Given the description of an element on the screen output the (x, y) to click on. 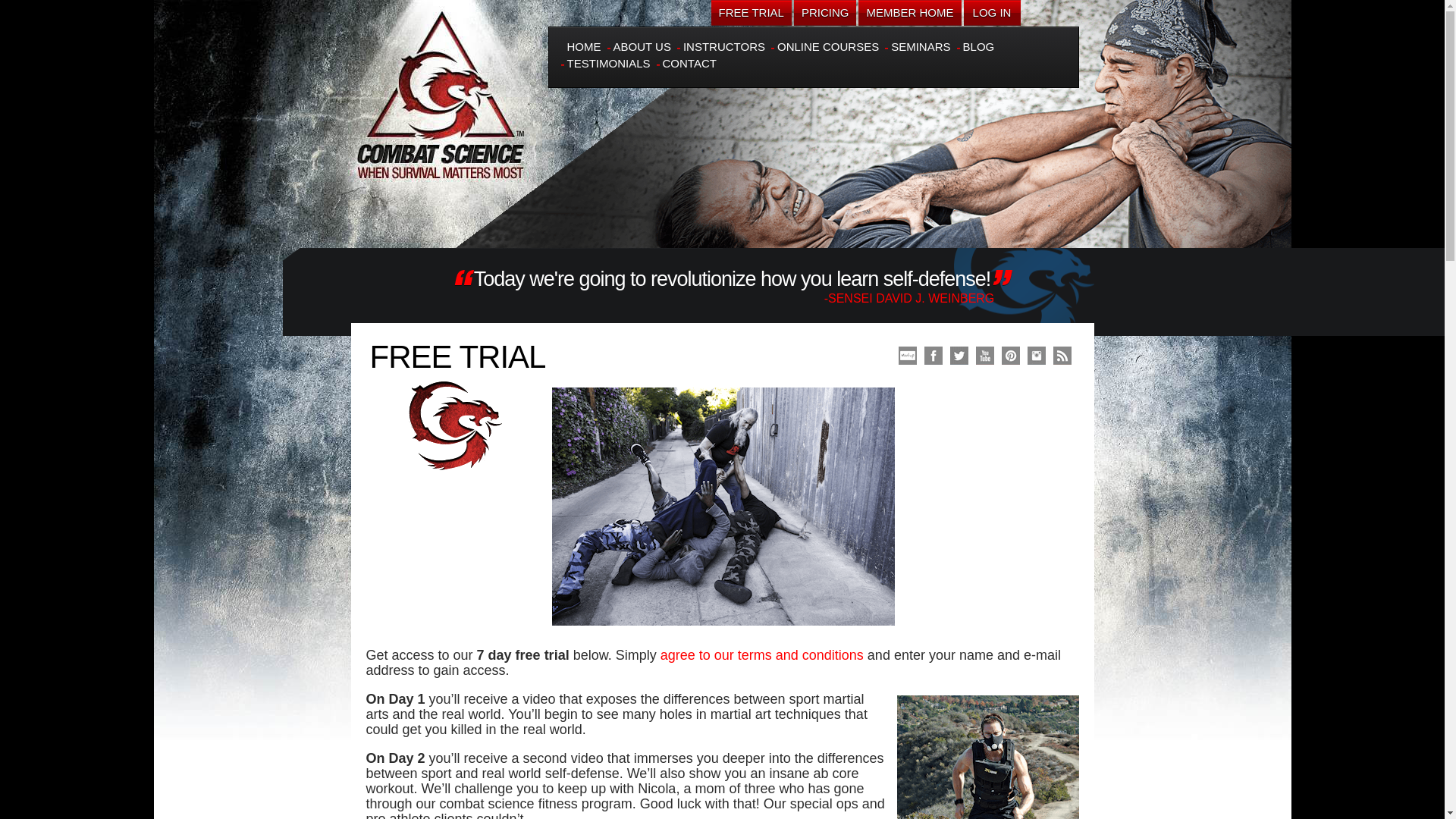
FREE TRIAL (751, 12)
Combat Science (442, 90)
HOME (584, 46)
SEMINARS (920, 46)
CONTACT (689, 62)
ABOUT US (640, 46)
BLOG (978, 46)
LOG IN (991, 12)
TESTIMONIALS (608, 62)
INSTRUCTORS (723, 46)
